Given the description of an element on the screen output the (x, y) to click on. 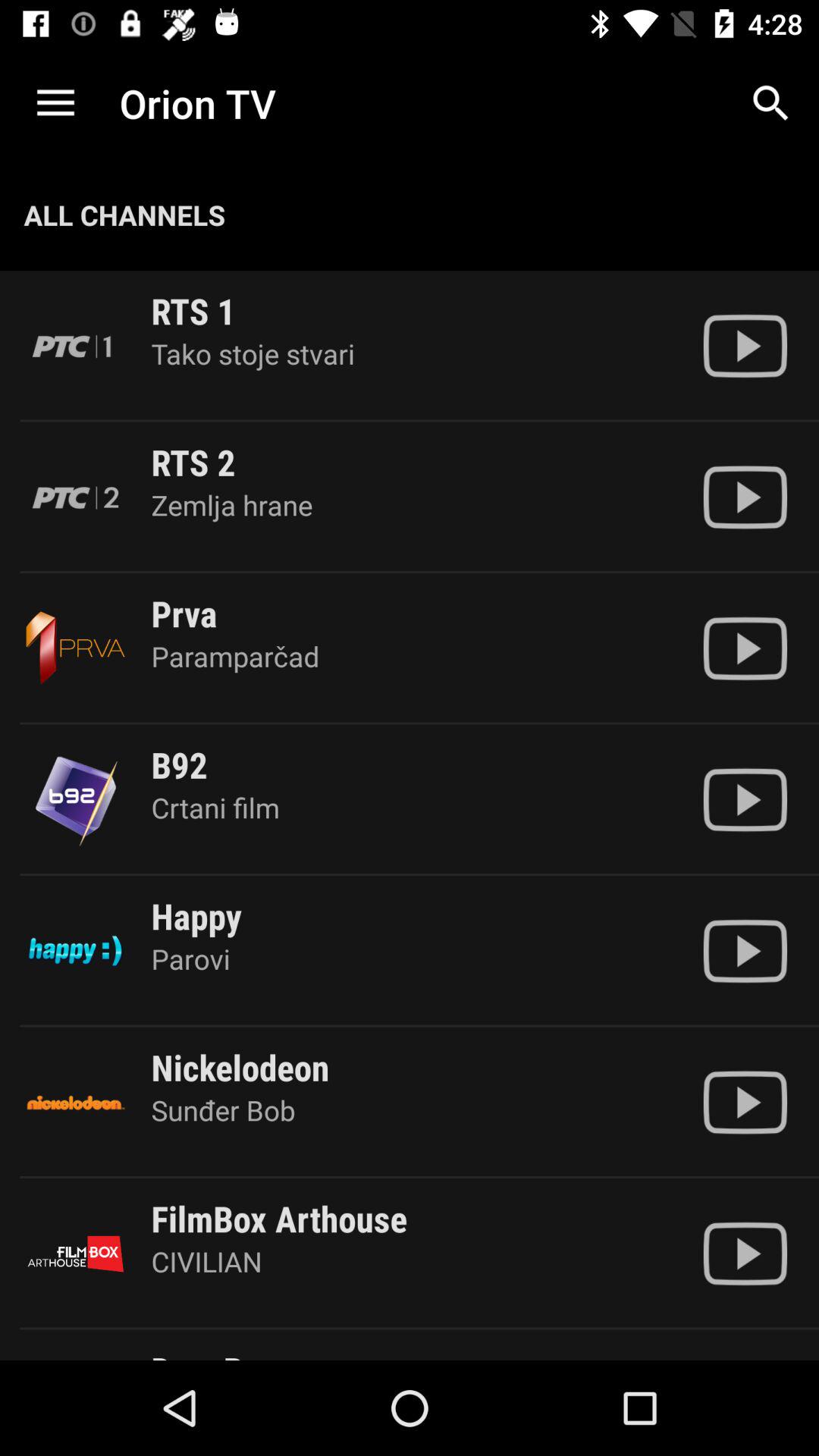
play video (745, 950)
